Given the description of an element on the screen output the (x, y) to click on. 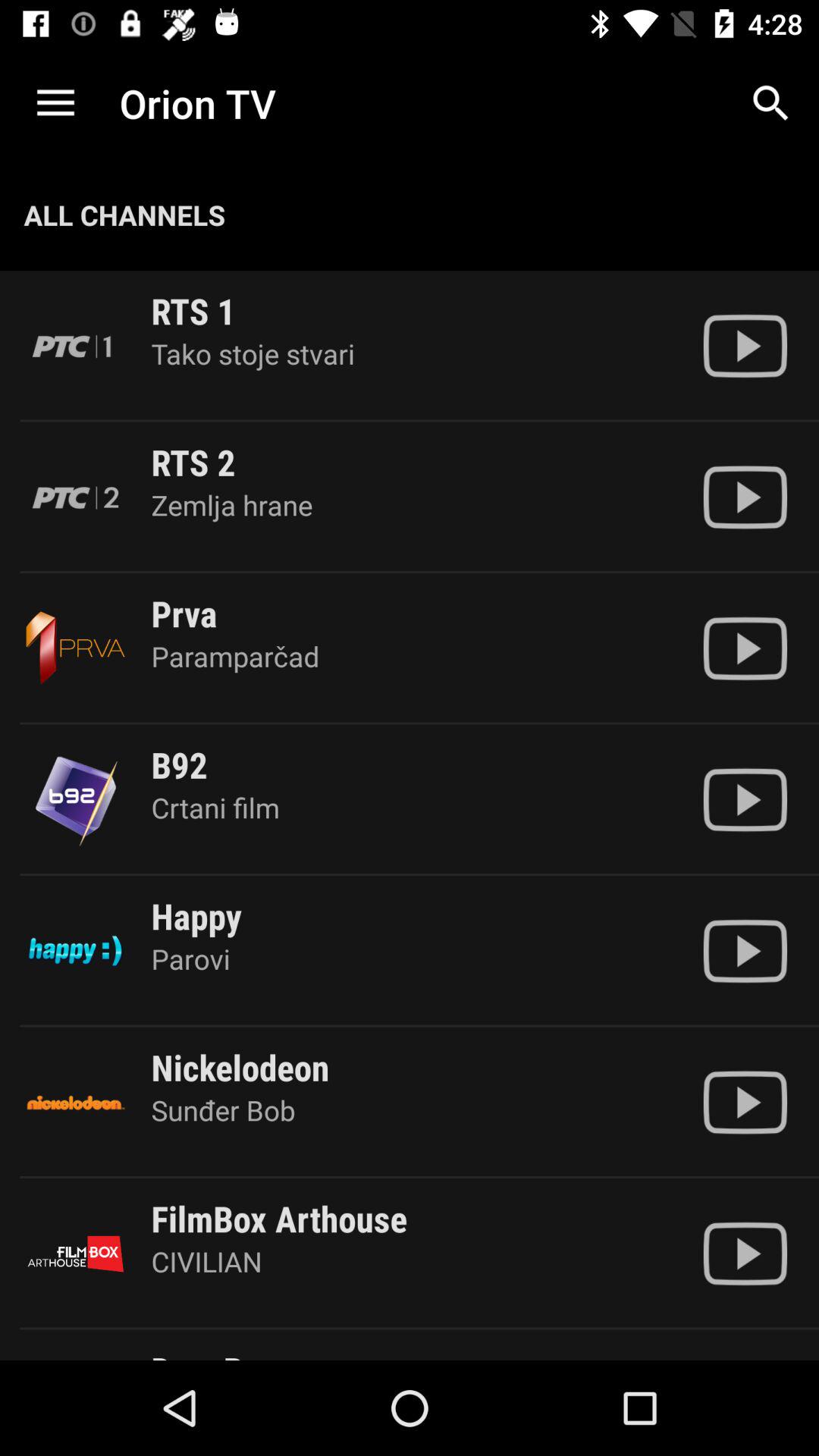
play video (745, 950)
